Given the description of an element on the screen output the (x, y) to click on. 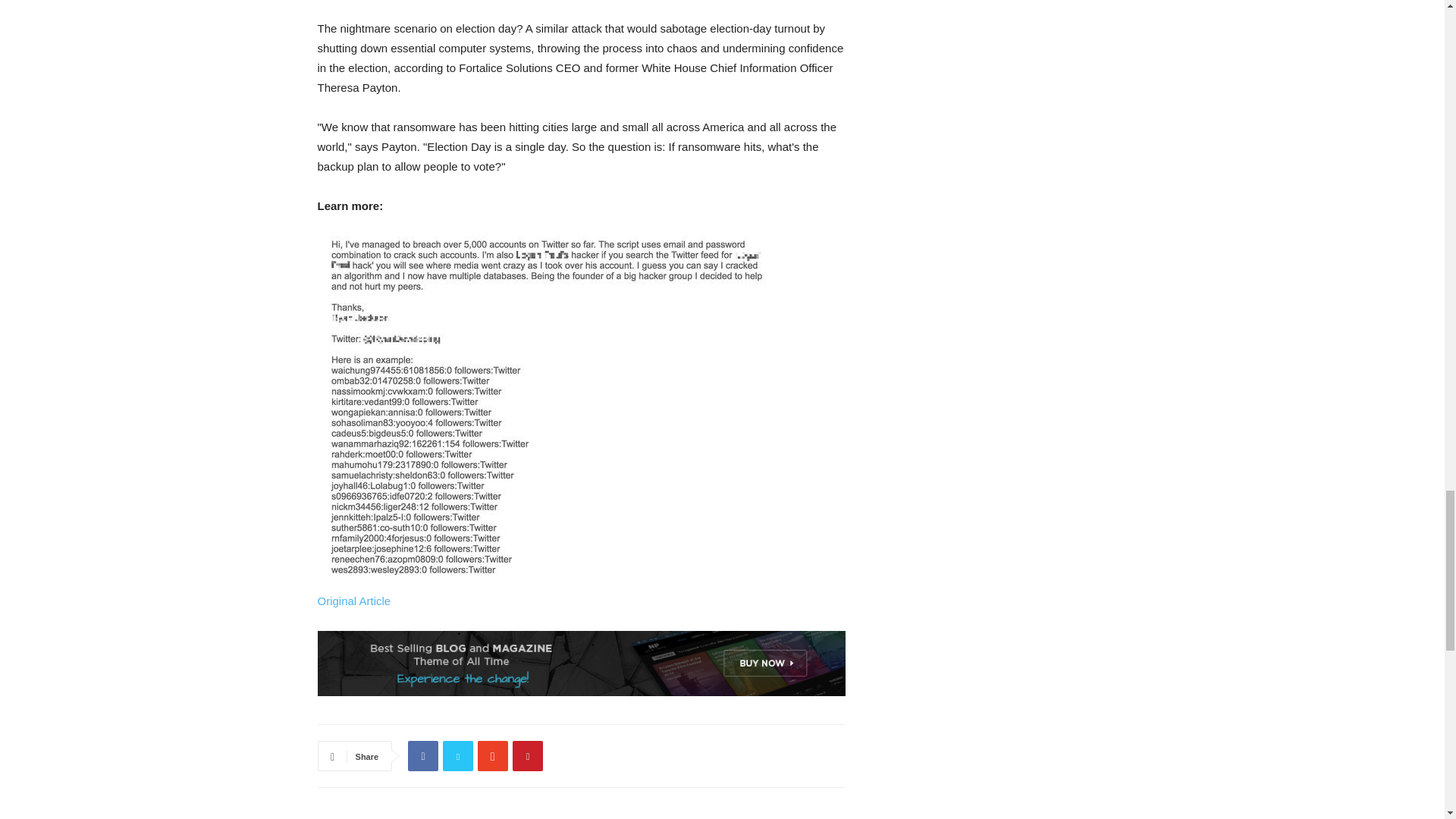
Original Article (353, 600)
